Given the description of an element on the screen output the (x, y) to click on. 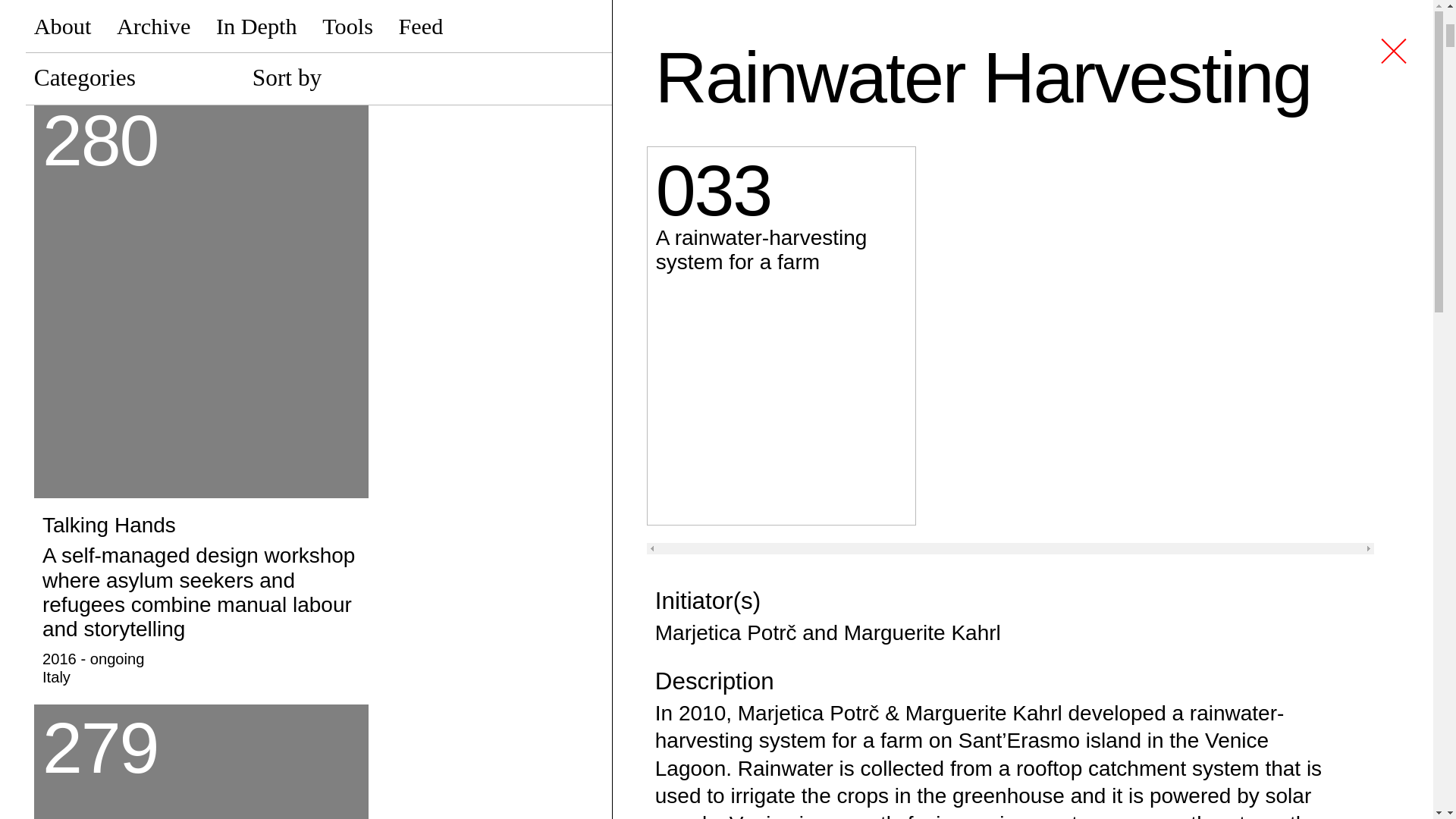
Company Drinks (200, 761)
Talking Hands (200, 596)
